Given the description of an element on the screen output the (x, y) to click on. 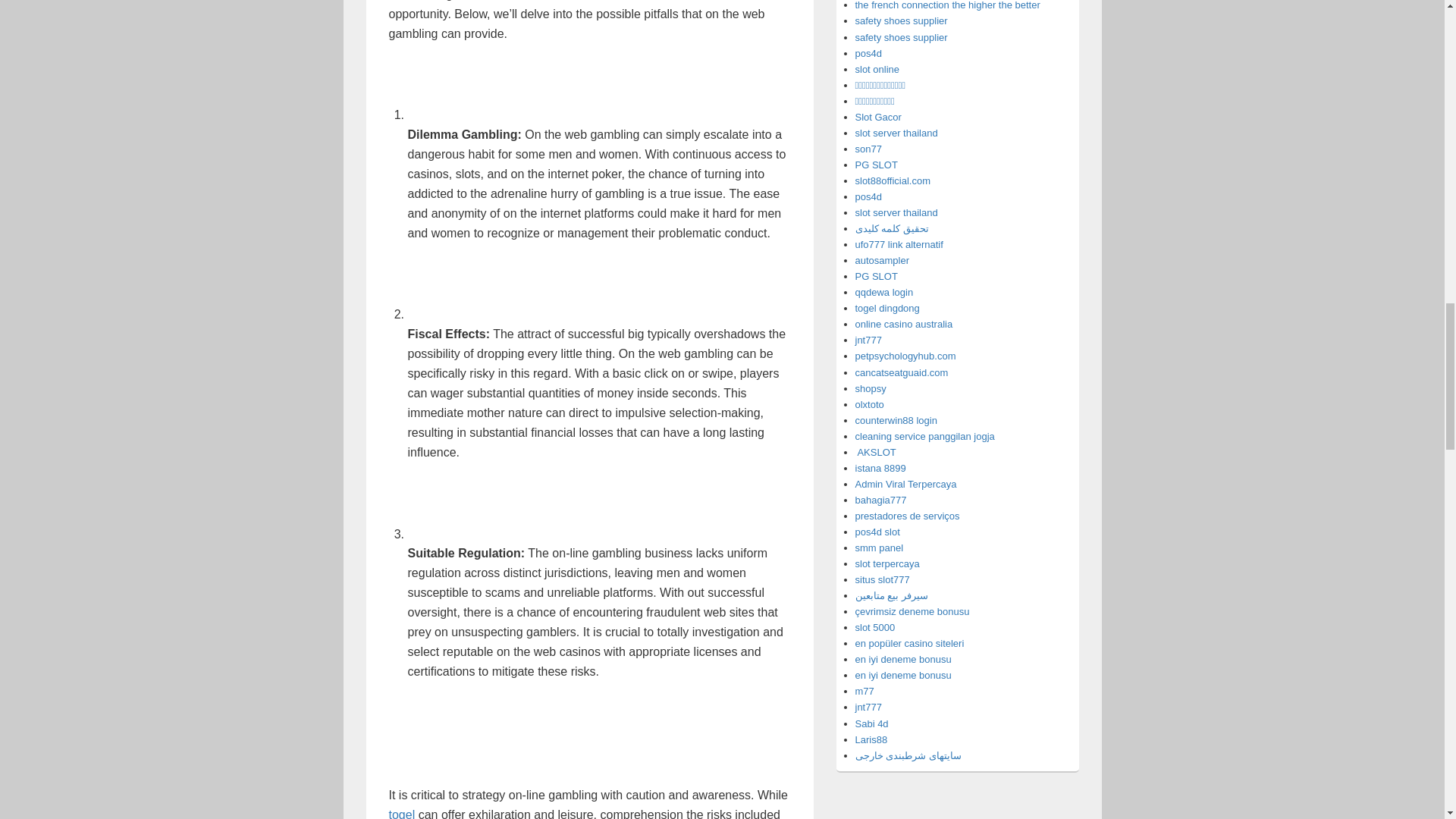
togel (401, 813)
